Given the description of an element on the screen output the (x, y) to click on. 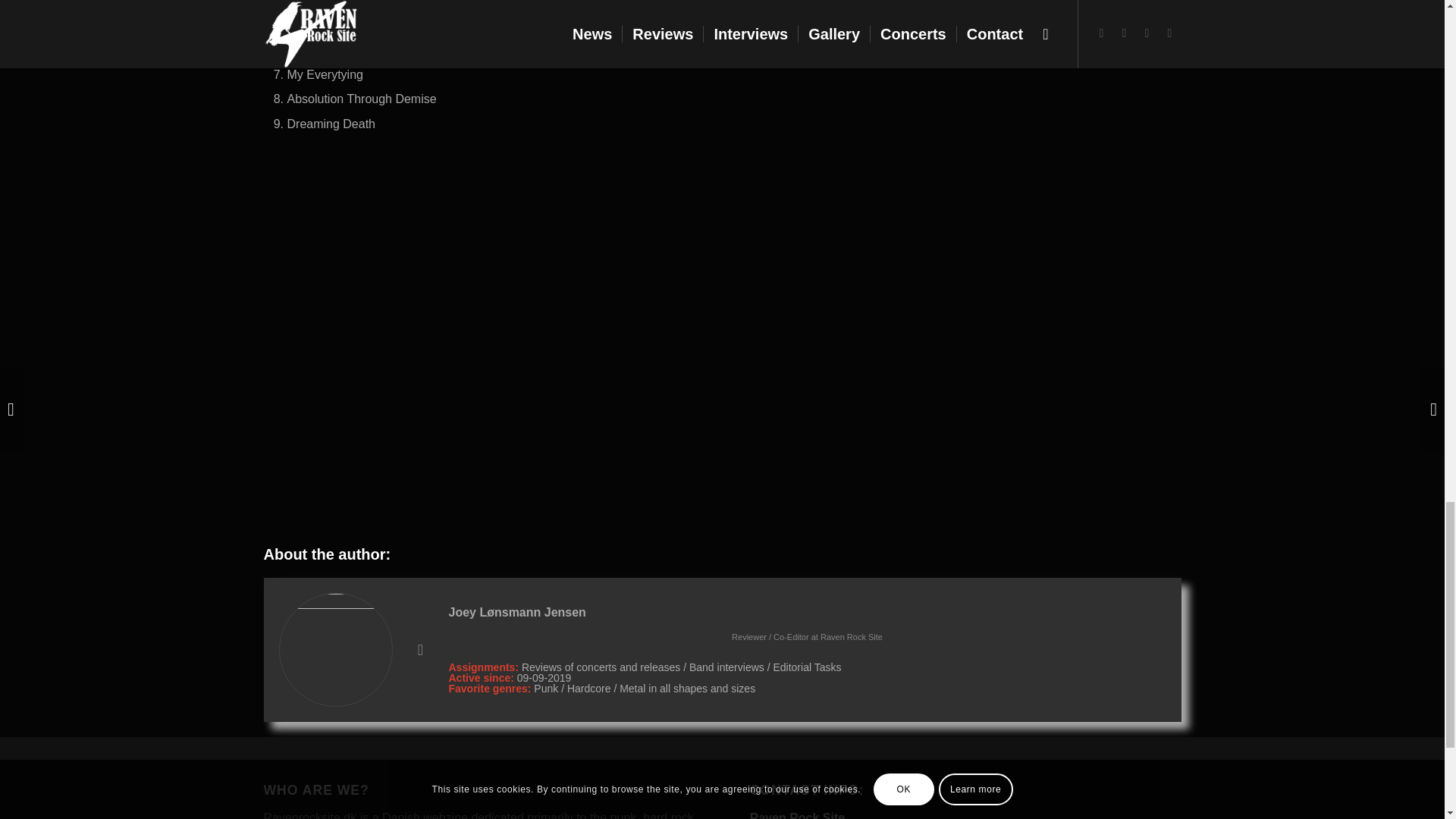
Raven Rock Site (851, 636)
